Given the description of an element on the screen output the (x, y) to click on. 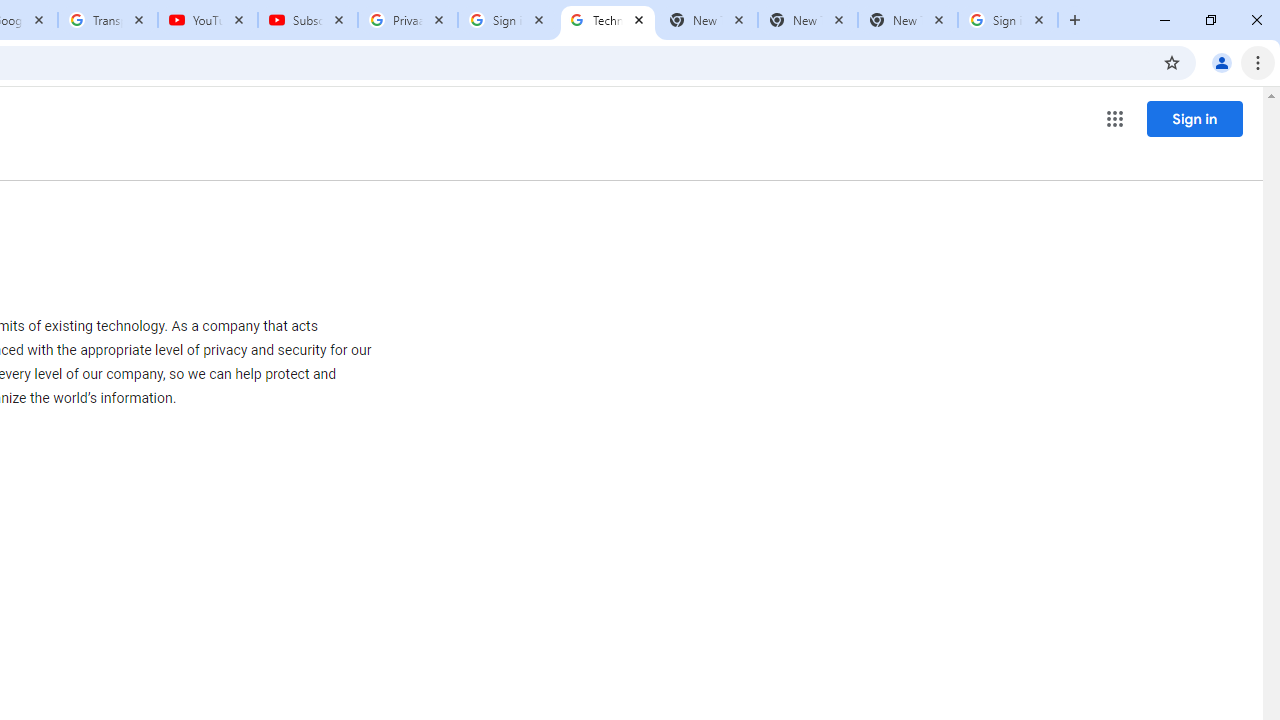
YouTube (207, 20)
New Tab (907, 20)
Sign in - Google Accounts (1007, 20)
Sign in - Google Accounts (508, 20)
Subscriptions - YouTube (308, 20)
